Given the description of an element on the screen output the (x, y) to click on. 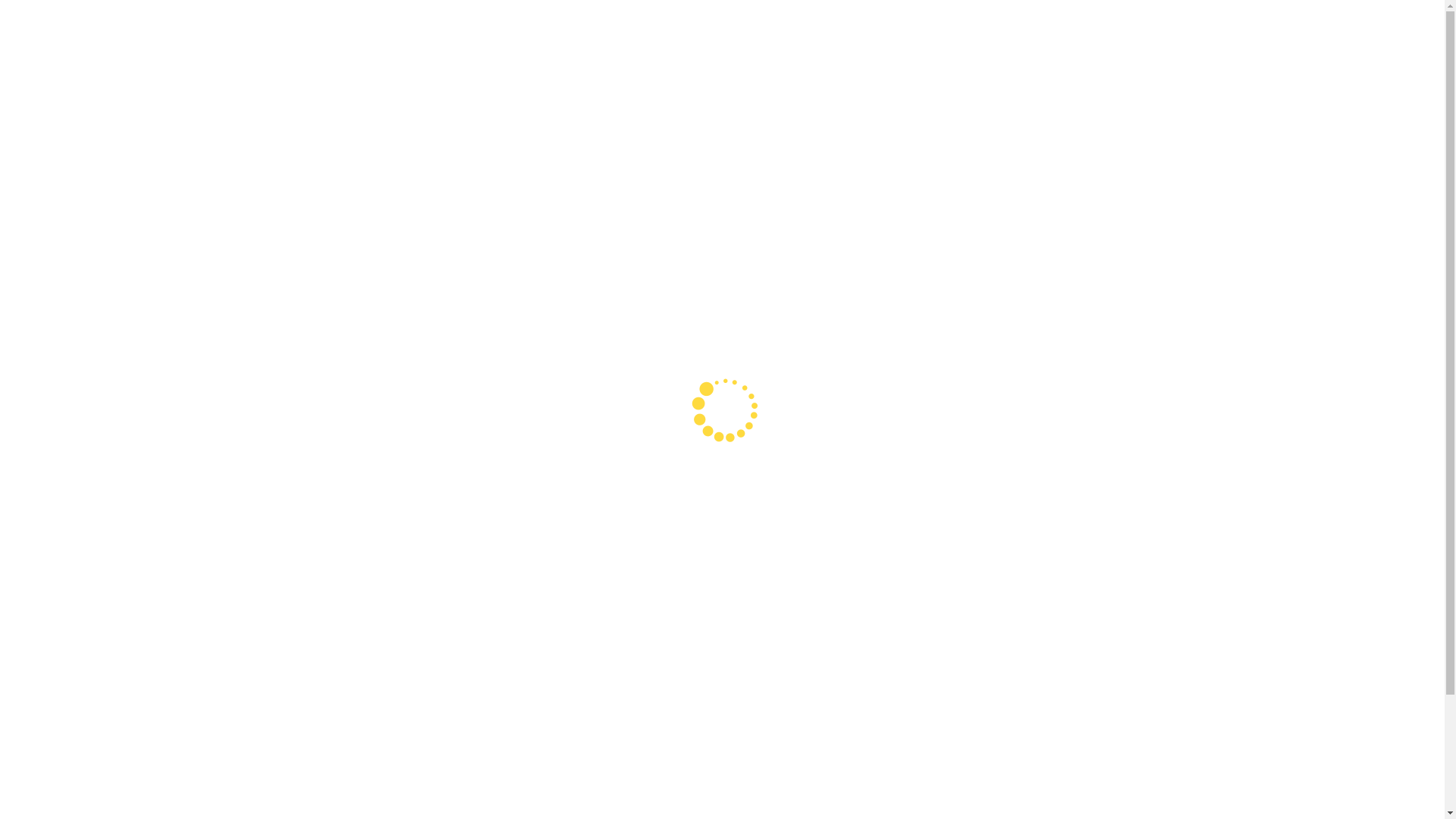
Conferences Element type: text (876, 28)
Cases Element type: text (946, 28)
Sign In Element type: text (1124, 28)
About Element type: text (1001, 28)
SUBMIT Element type: text (943, 661)
Home Element type: hover (385, 18)
Contact Element type: text (1062, 30)
Home Element type: text (803, 28)
